Given the description of an element on the screen output the (x, y) to click on. 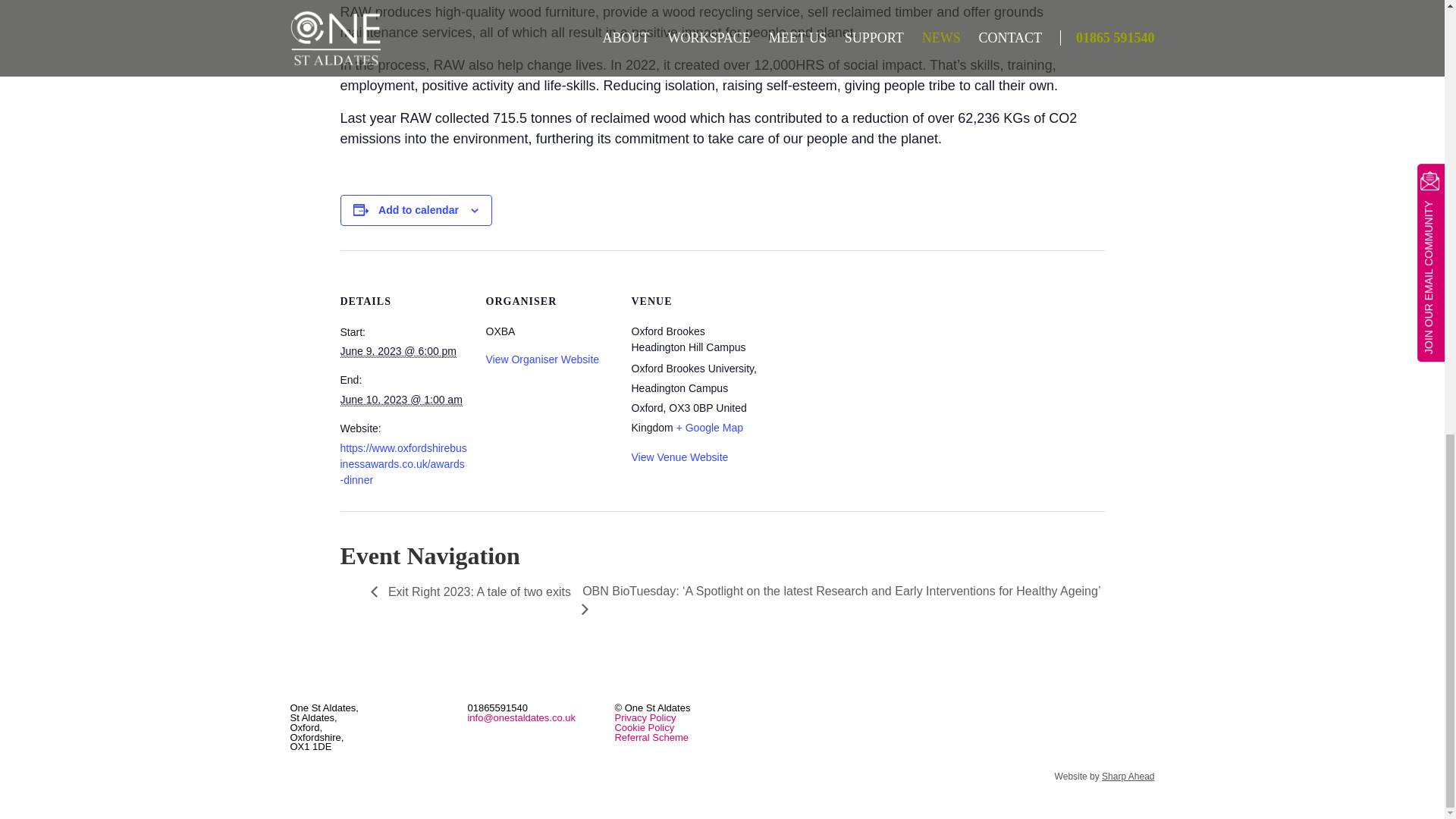
Add to calendar (418, 209)
View Venue Website (679, 457)
Click to view a Google Map (709, 427)
Privacy Policy (644, 717)
View Organiser Website (541, 358)
2023-06-09 (398, 350)
Exit Right 2023: A tale of two exits (469, 600)
2023-06-10 (400, 399)
